Given the description of an element on the screen output the (x, y) to click on. 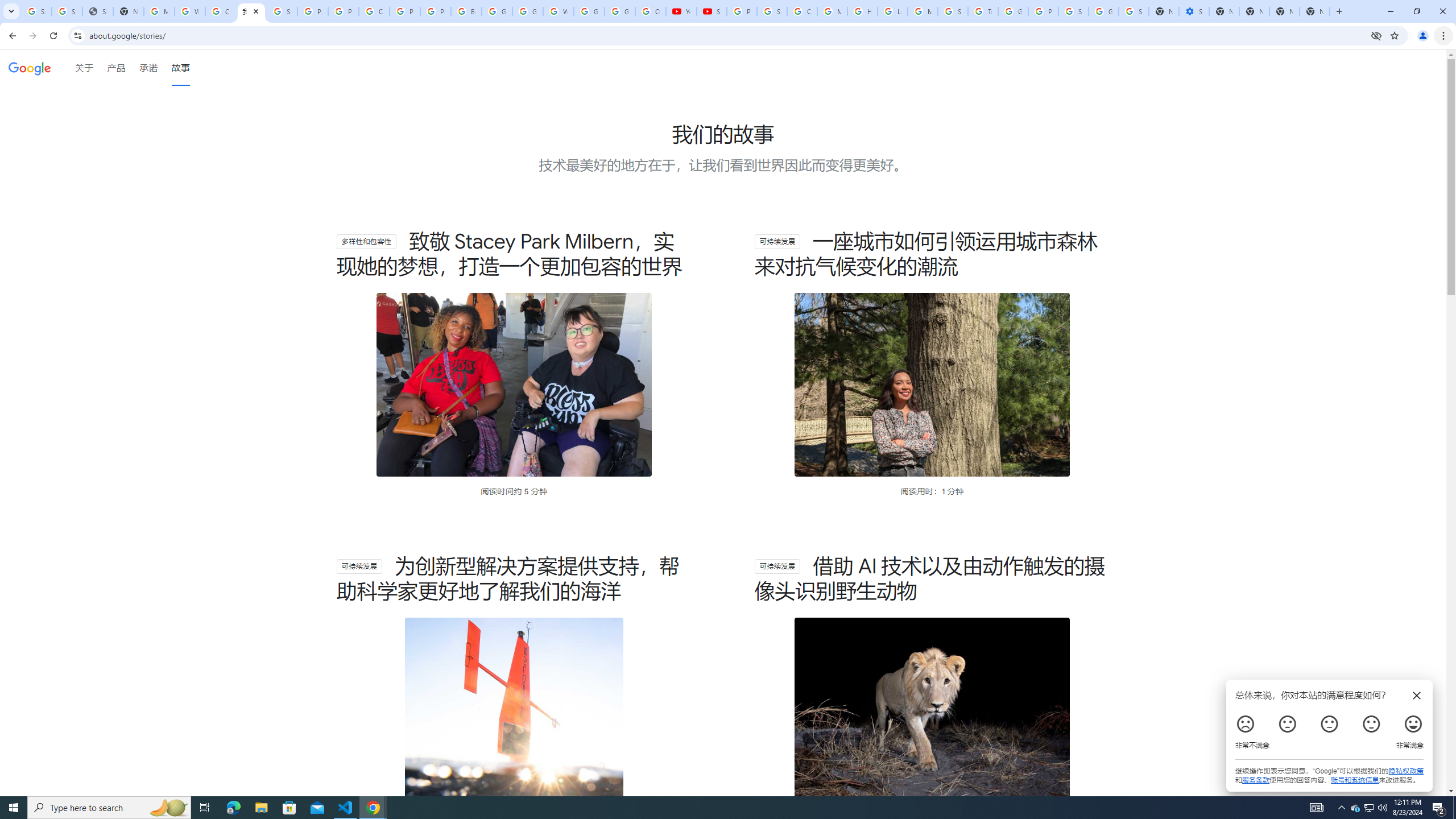
Create your Google Account (373, 11)
New Tab (1314, 11)
Create your Google Account (220, 11)
